Given the description of an element on the screen output the (x, y) to click on. 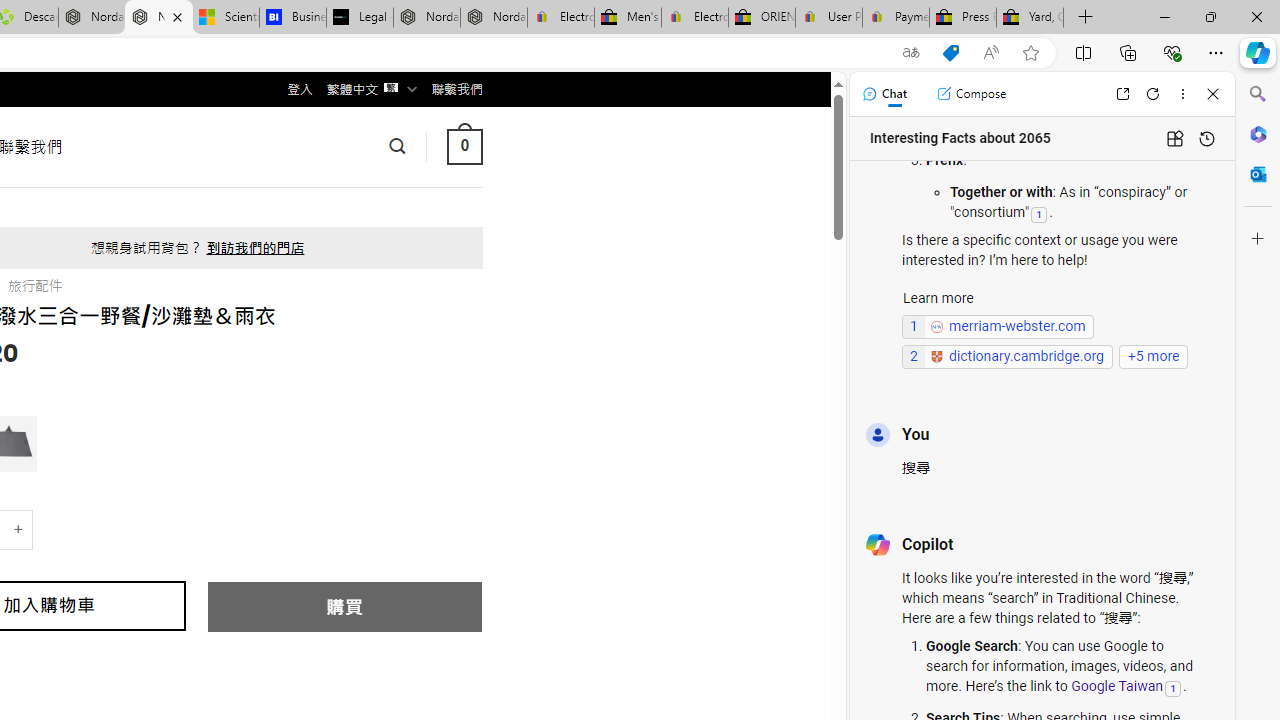
+ (19, 529)
Nordace - Summer Adventures 2024 (91, 17)
Payments Terms of Use | eBay.com (895, 17)
Minimize Search pane (1258, 94)
